Given the description of an element on the screen output the (x, y) to click on. 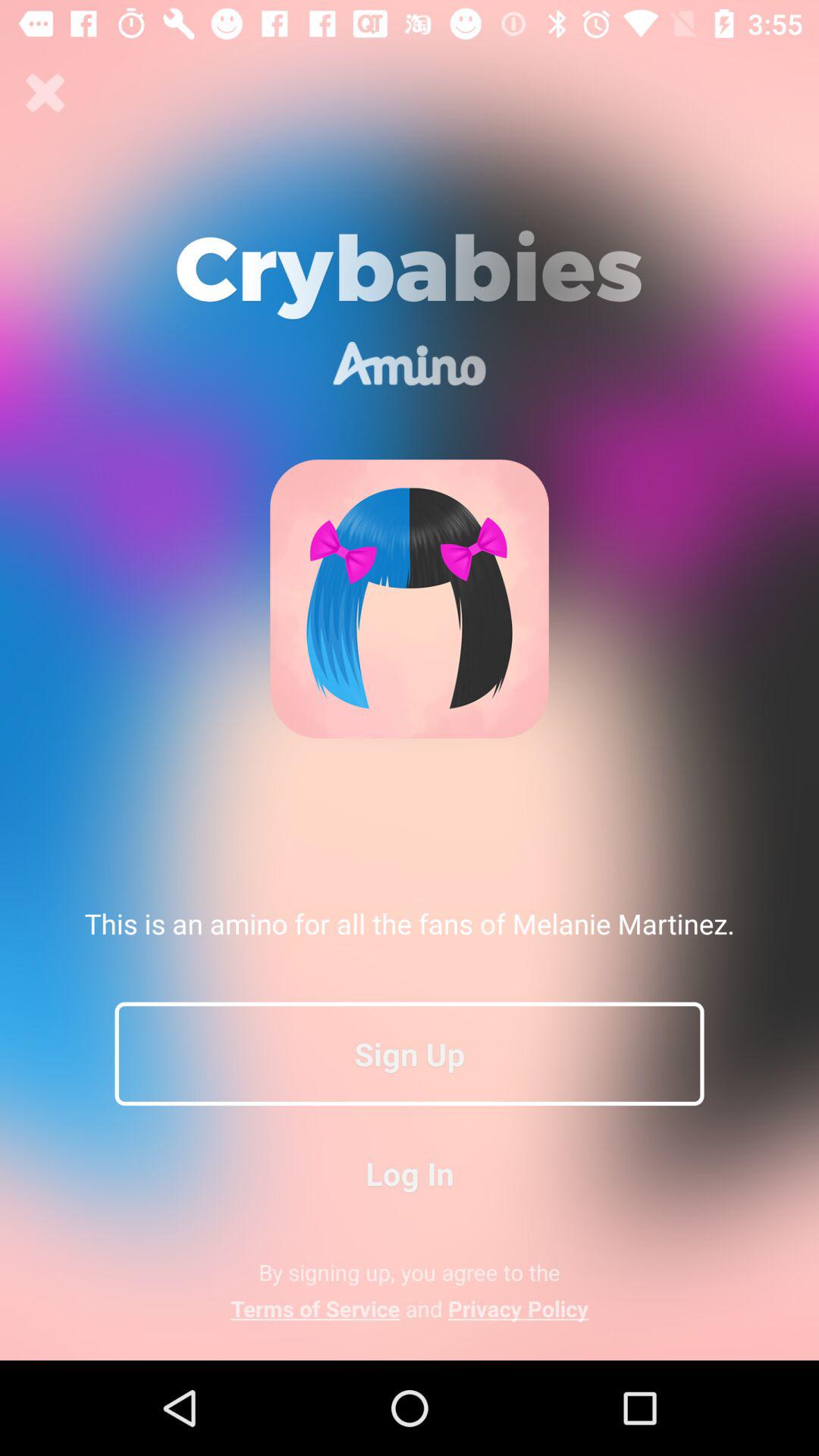
turn off the icon below by signing up app (409, 1308)
